Given the description of an element on the screen output the (x, y) to click on. 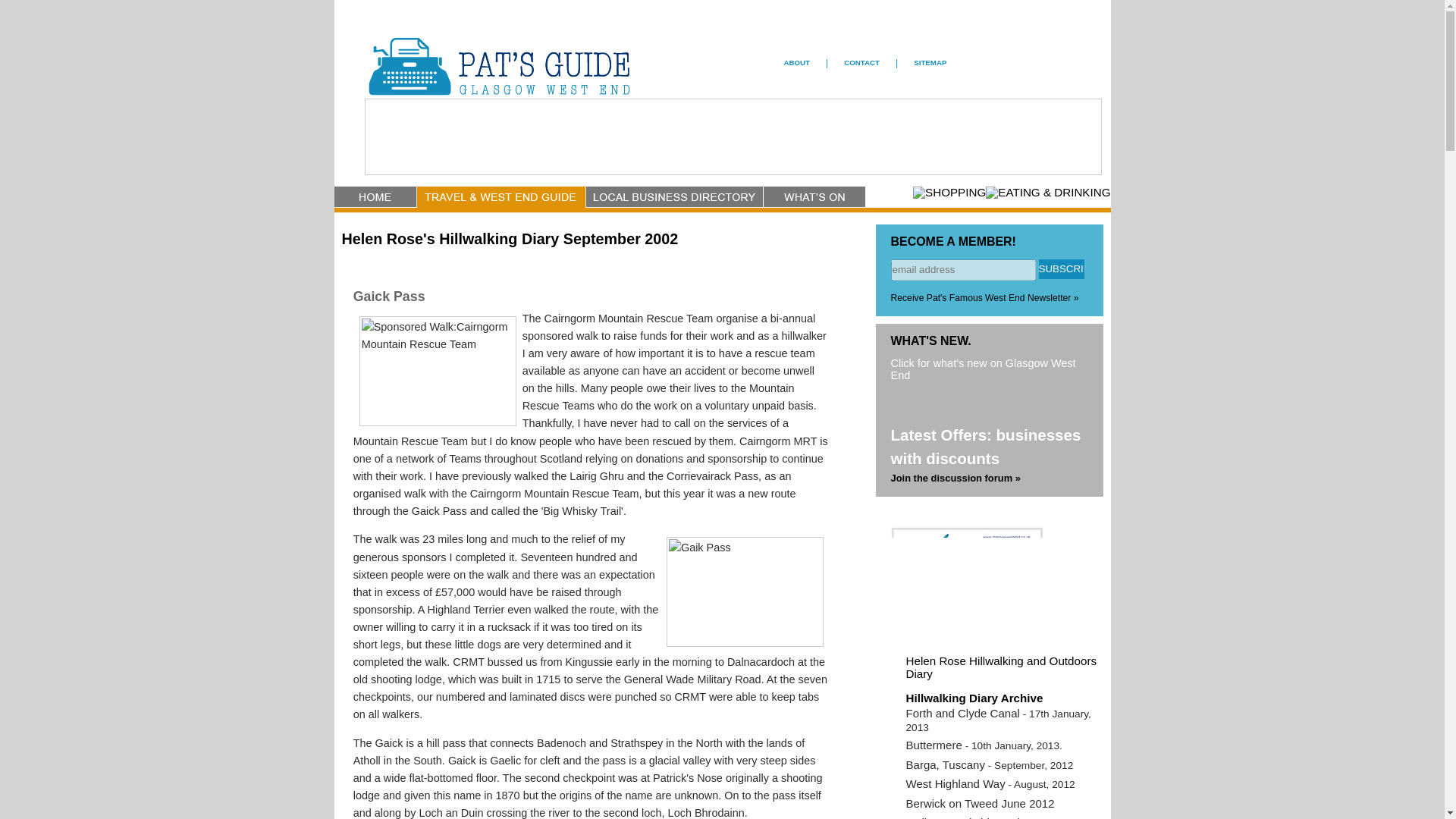
SITEMAP (930, 62)
ABOUT (797, 62)
CONTACT (861, 62)
